Given the description of an element on the screen output the (x, y) to click on. 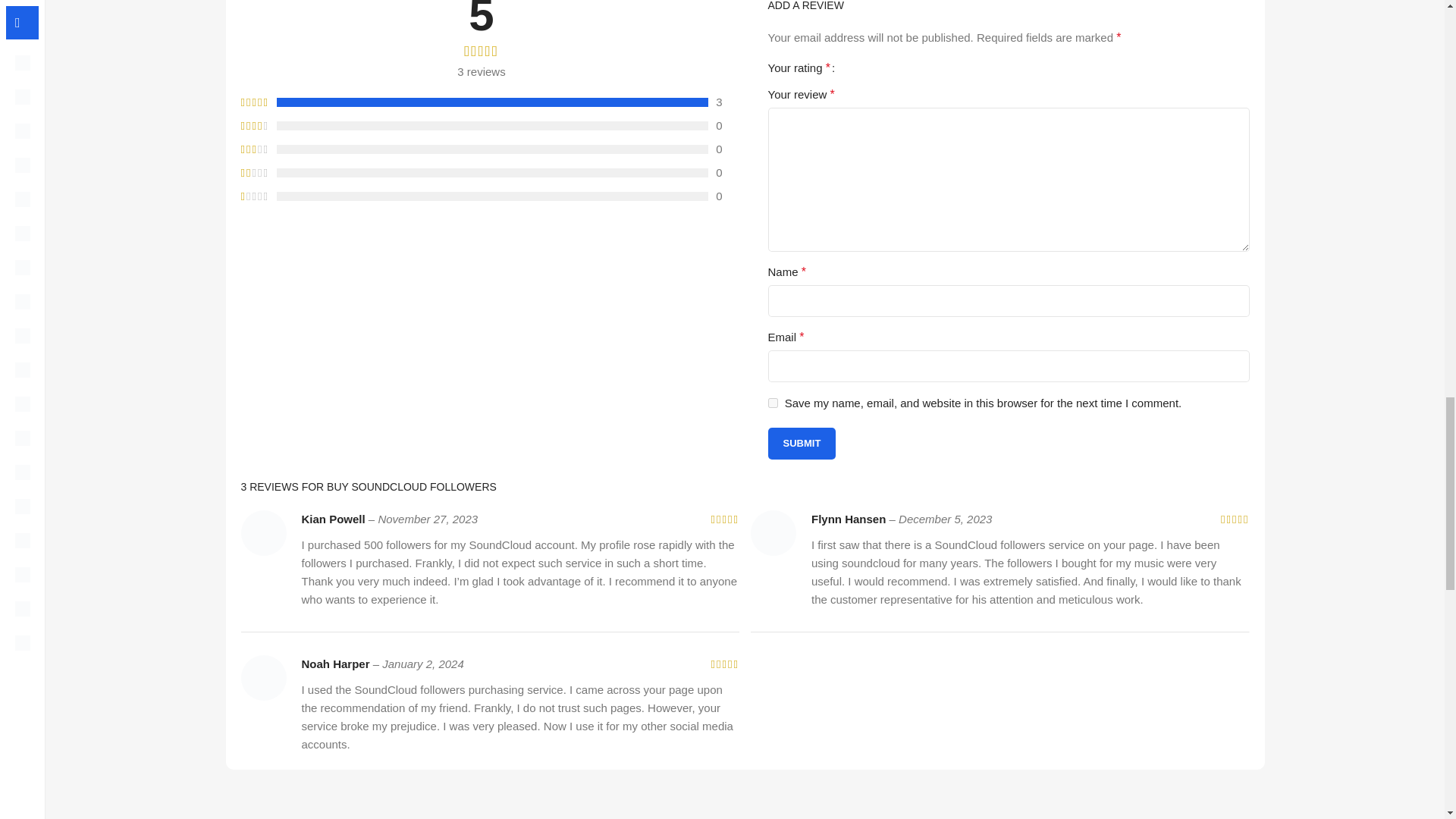
Submit (801, 443)
yes (772, 402)
